Given the description of an element on the screen output the (x, y) to click on. 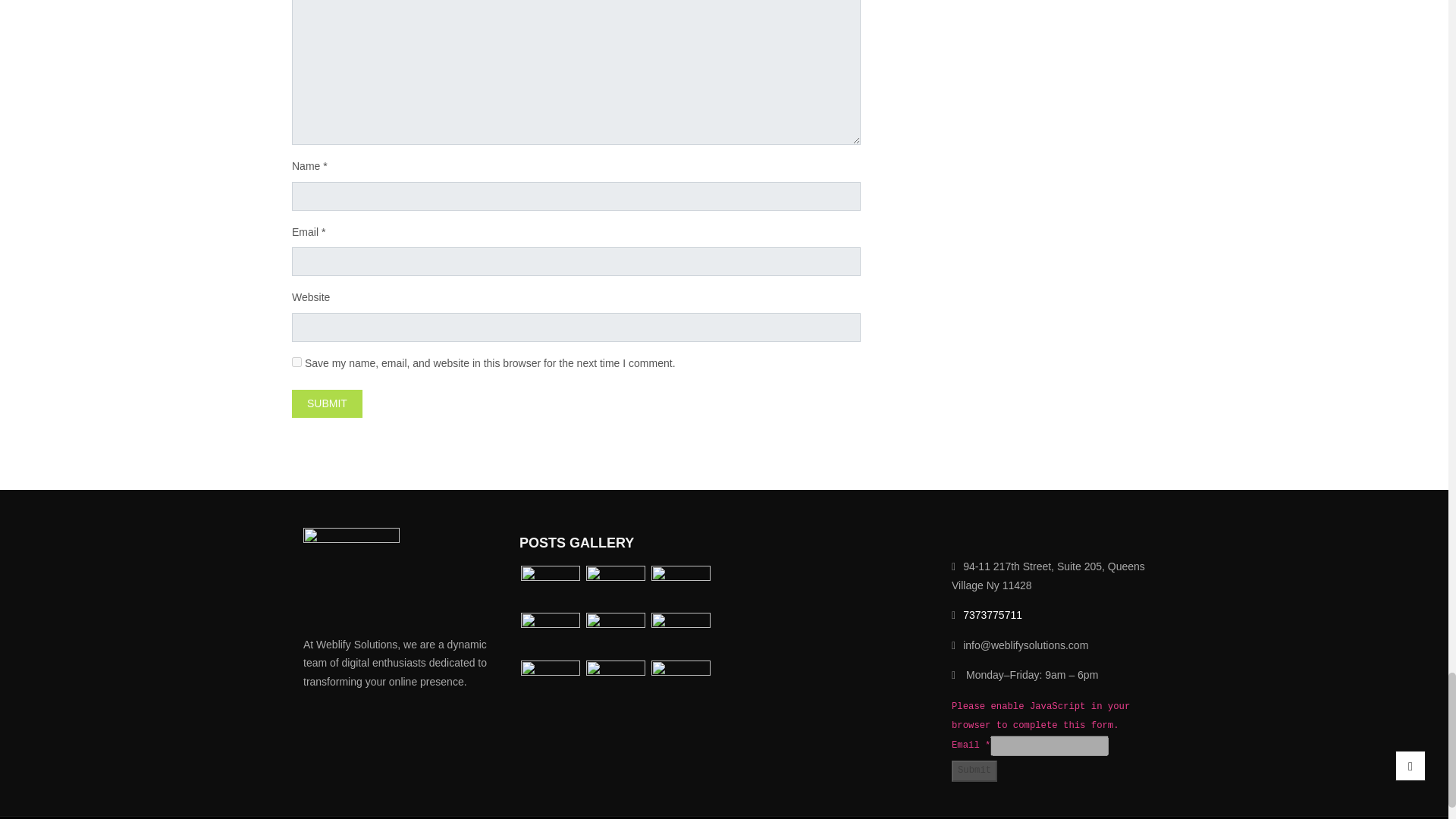
The Power of UX UI Design (615, 682)
A comprehensive guide to eBooks (680, 634)
Mastering the Art of Book Writing (680, 587)
yes (296, 361)
Mastering Content Development (550, 682)
Submit (327, 403)
